Given the description of an element on the screen output the (x, y) to click on. 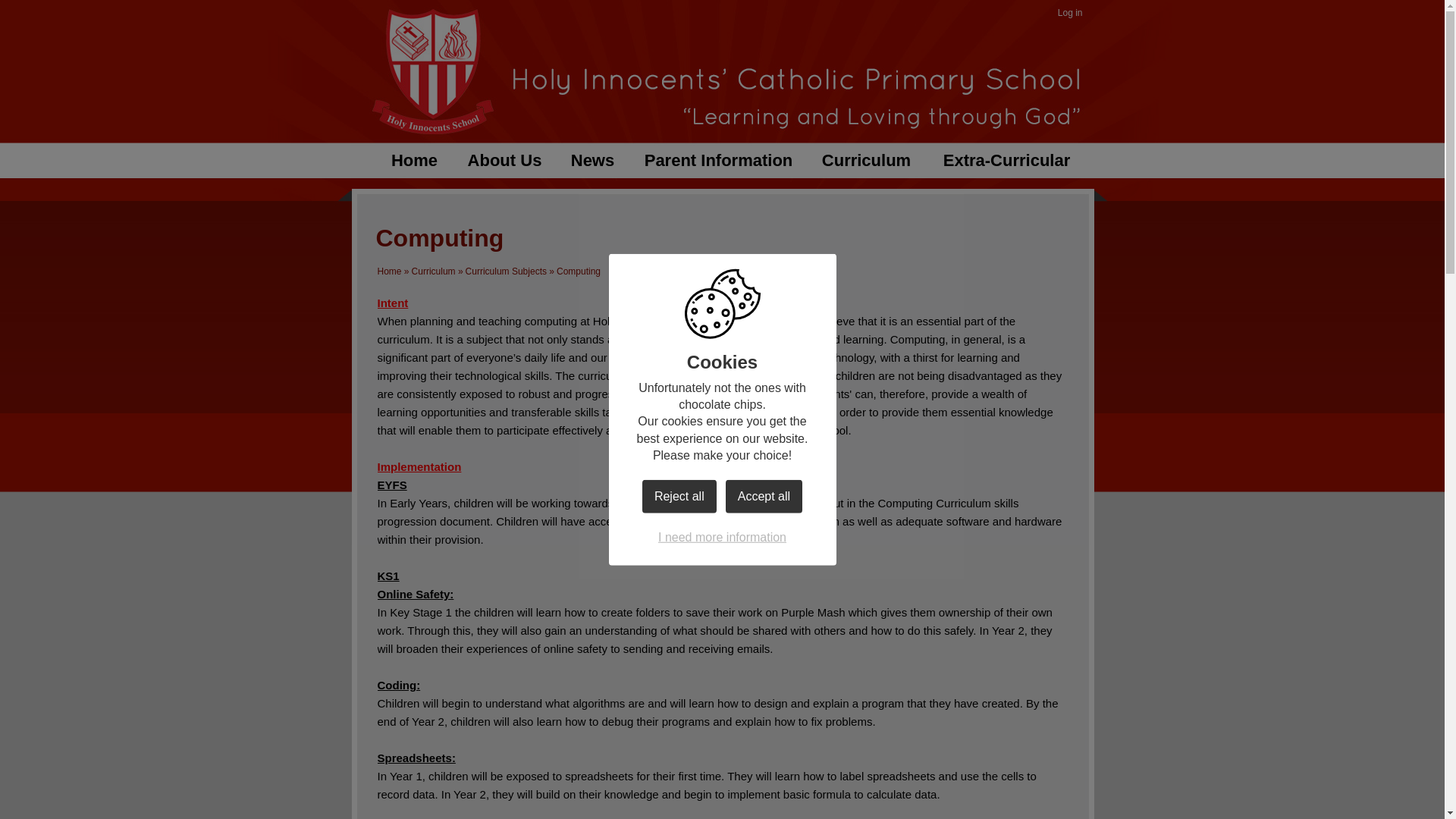
News (591, 162)
Home Page (430, 69)
Parent Information (717, 162)
Home Page (430, 69)
Log in (1070, 13)
Home (389, 271)
Home (413, 162)
Curriculum Subjects (506, 271)
Curriculum (433, 271)
About Us (503, 162)
